Given the description of an element on the screen output the (x, y) to click on. 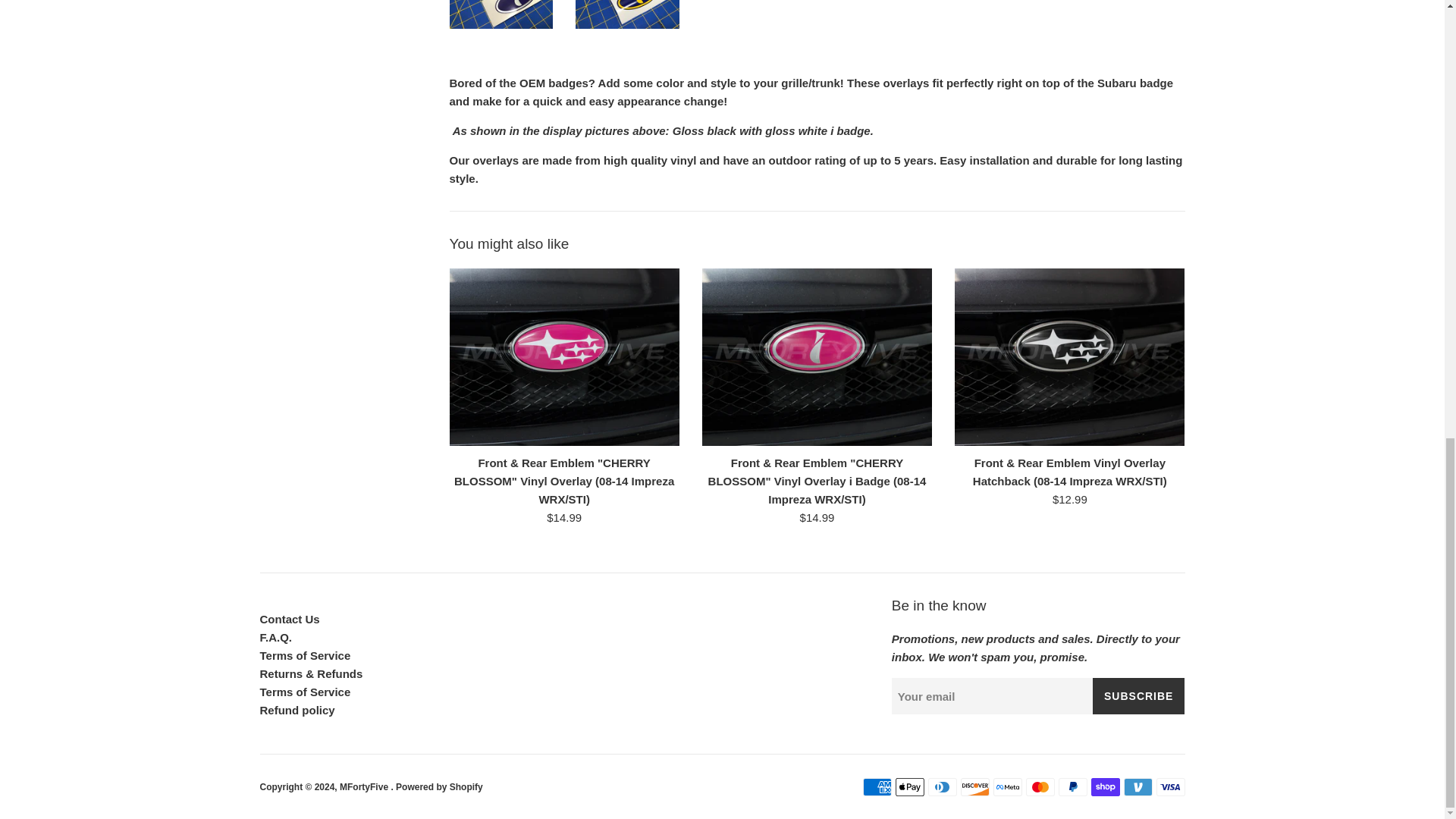
Visa (1170, 787)
PayPal (1072, 787)
Mastercard (1039, 787)
Shop Pay (1104, 787)
Discover (973, 787)
Venmo (1138, 787)
Apple Pay (909, 787)
Diners Club (942, 787)
Meta Pay (1007, 787)
American Express (877, 787)
